Given the description of an element on the screen output the (x, y) to click on. 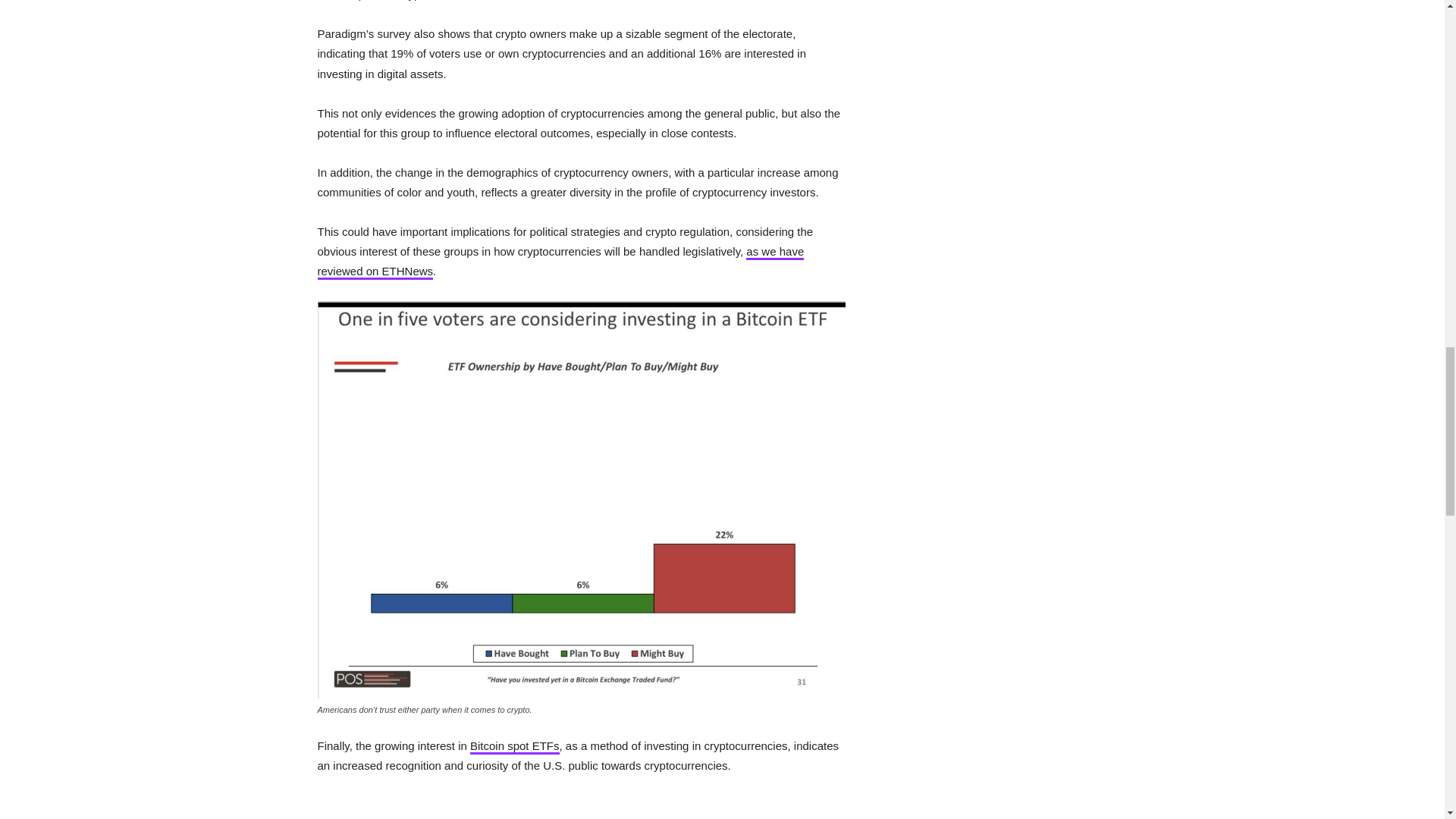
as we have reviewed on ETHNews (560, 262)
